Given the description of an element on the screen output the (x, y) to click on. 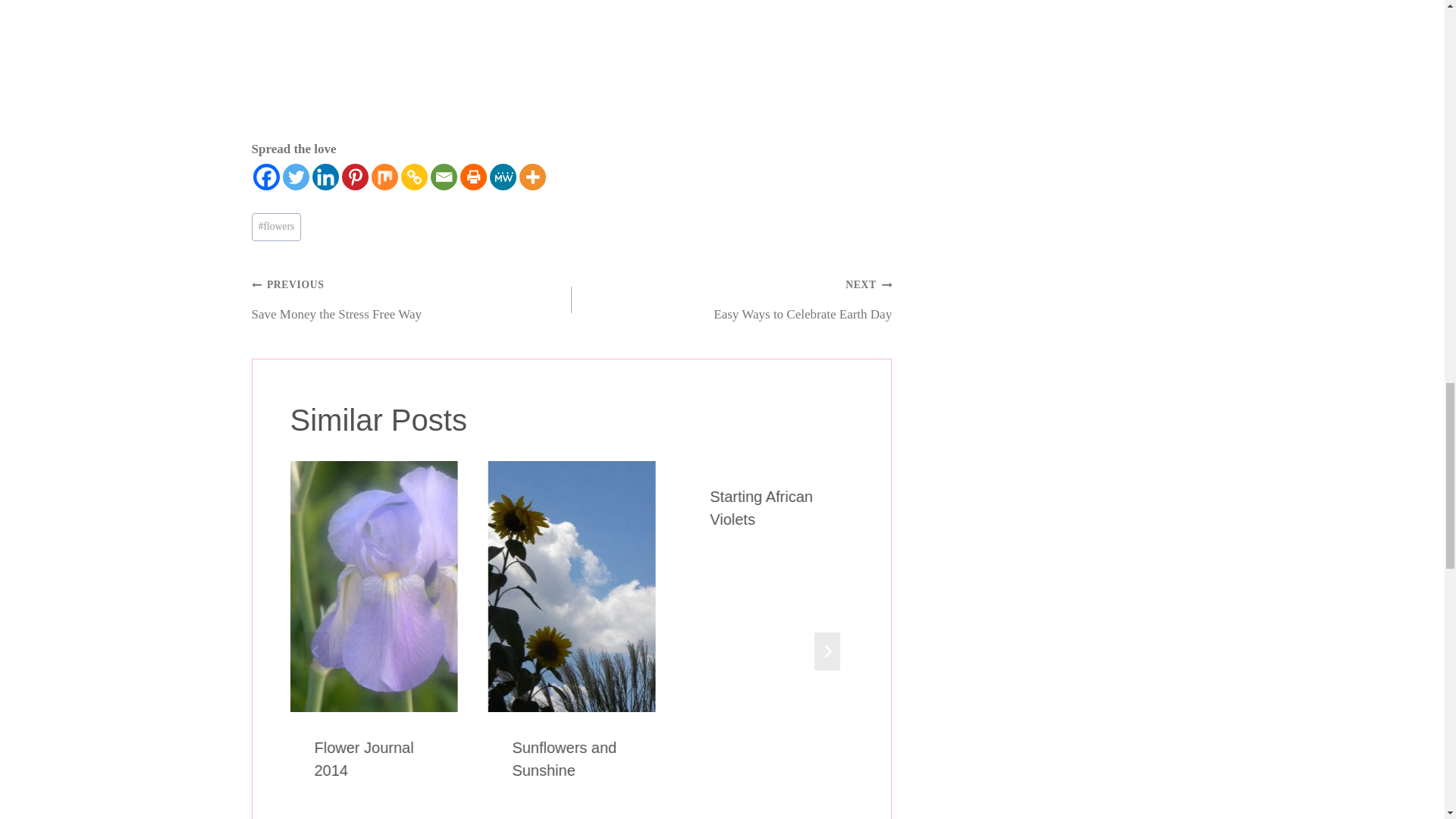
Copy Link (413, 176)
Linkedin (326, 176)
Email (443, 176)
Twitter (295, 176)
Mix (384, 176)
MeWe (502, 176)
Print (473, 176)
Facebook (266, 176)
More (531, 176)
flowers (276, 226)
Pinterest (354, 176)
